Given the description of an element on the screen output the (x, y) to click on. 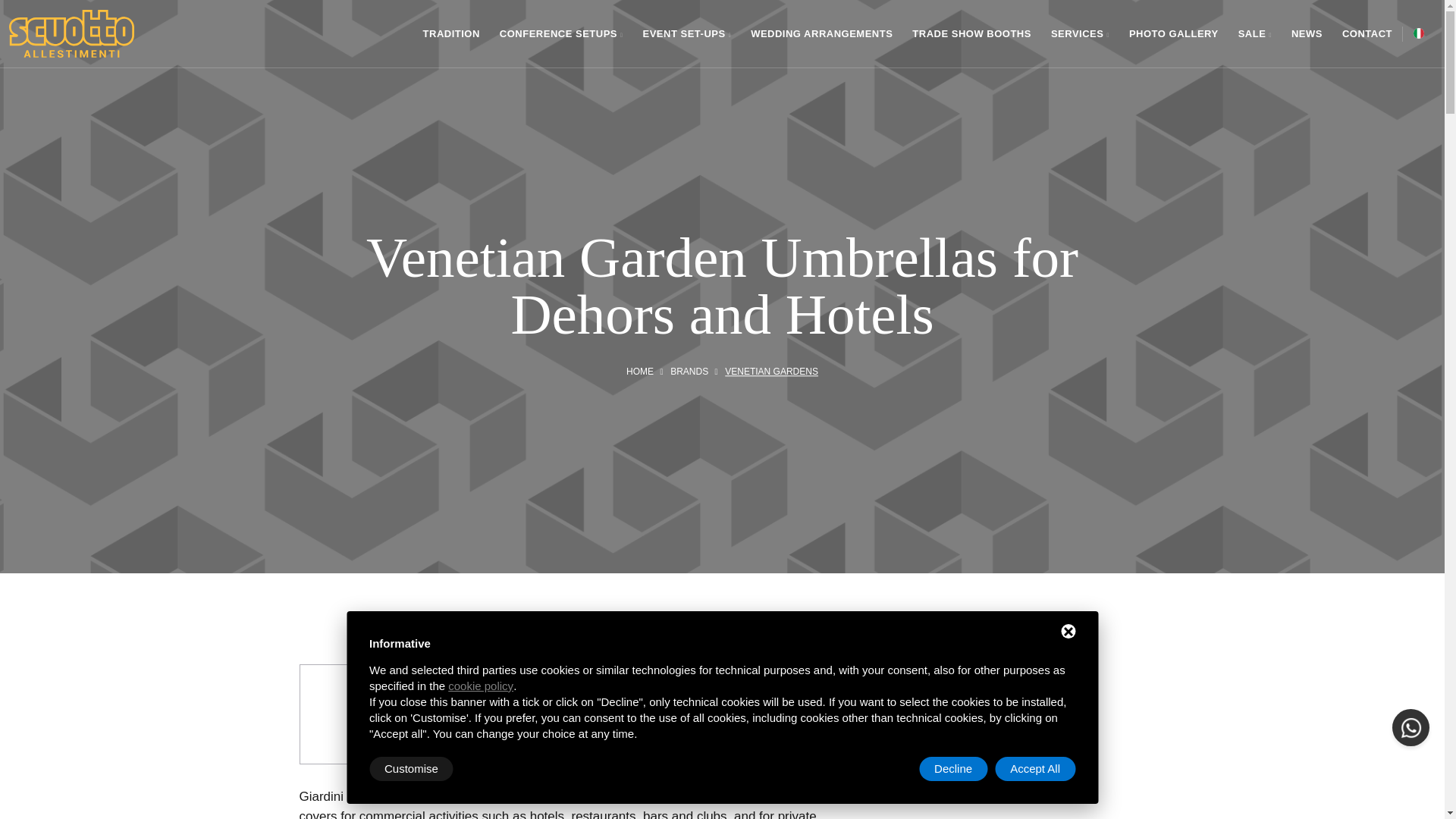
Scuotto Allestimenti (70, 36)
Event set-ups (687, 33)
NEWS (1307, 33)
Wedding arrangements (821, 33)
CONTACT (1366, 33)
Services (1080, 33)
CONFERENCE SETUPS (560, 33)
TRADE SHOW BOOTHS (971, 33)
PHOTO GALLERY (1173, 33)
EVENT SET-UPS (687, 33)
Tradition (451, 33)
Trade show booths (971, 33)
WEDDING ARRANGEMENTS (821, 33)
SERVICES (1080, 33)
HOME (639, 371)
